Given the description of an element on the screen output the (x, y) to click on. 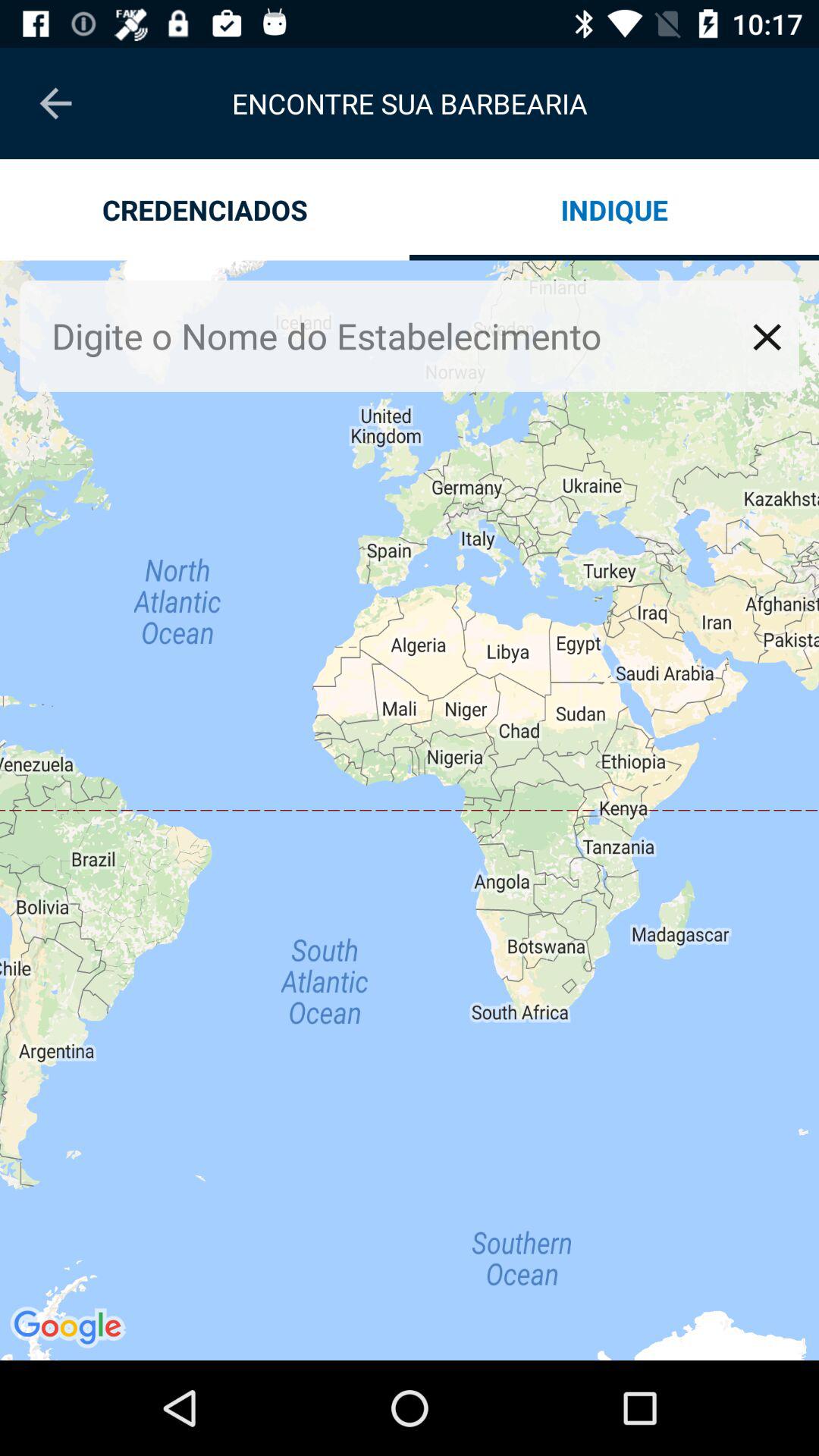
click the app above credenciados app (55, 103)
